Given the description of an element on the screen output the (x, y) to click on. 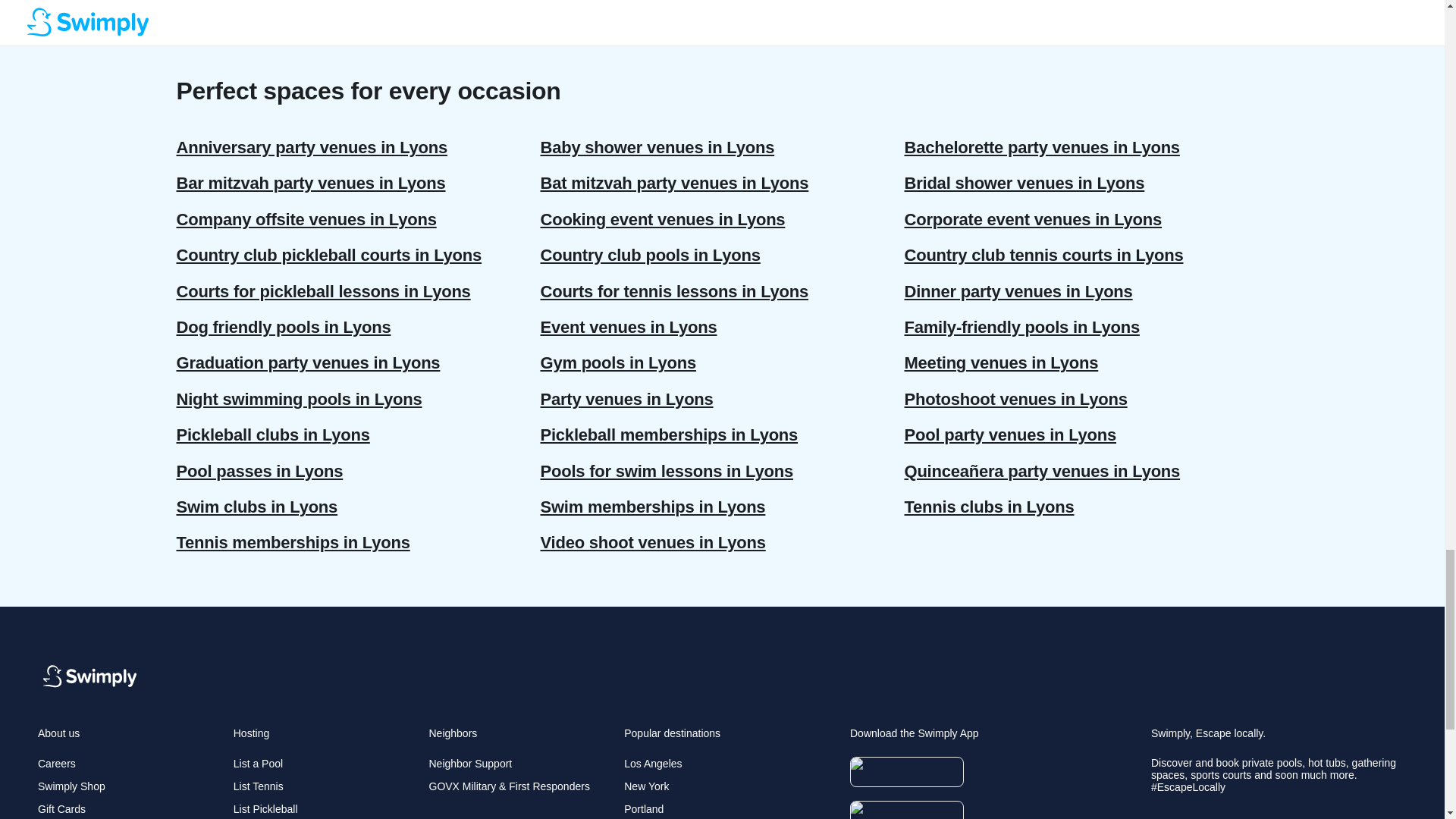
Bat mitzvah party venues in Lyons (722, 182)
Bridal shower venues in Lyons (1086, 182)
Company offsite venues in Lyons (358, 219)
Anniversary party venues in Lyons (358, 147)
Bar mitzvah party venues in Lyons (358, 182)
Gift Cards (61, 808)
List Tennis (257, 786)
Cooking event venues in Lyons (722, 219)
Baby shower venues in Lyons (722, 147)
List Pickleball (265, 808)
